Given the description of an element on the screen output the (x, y) to click on. 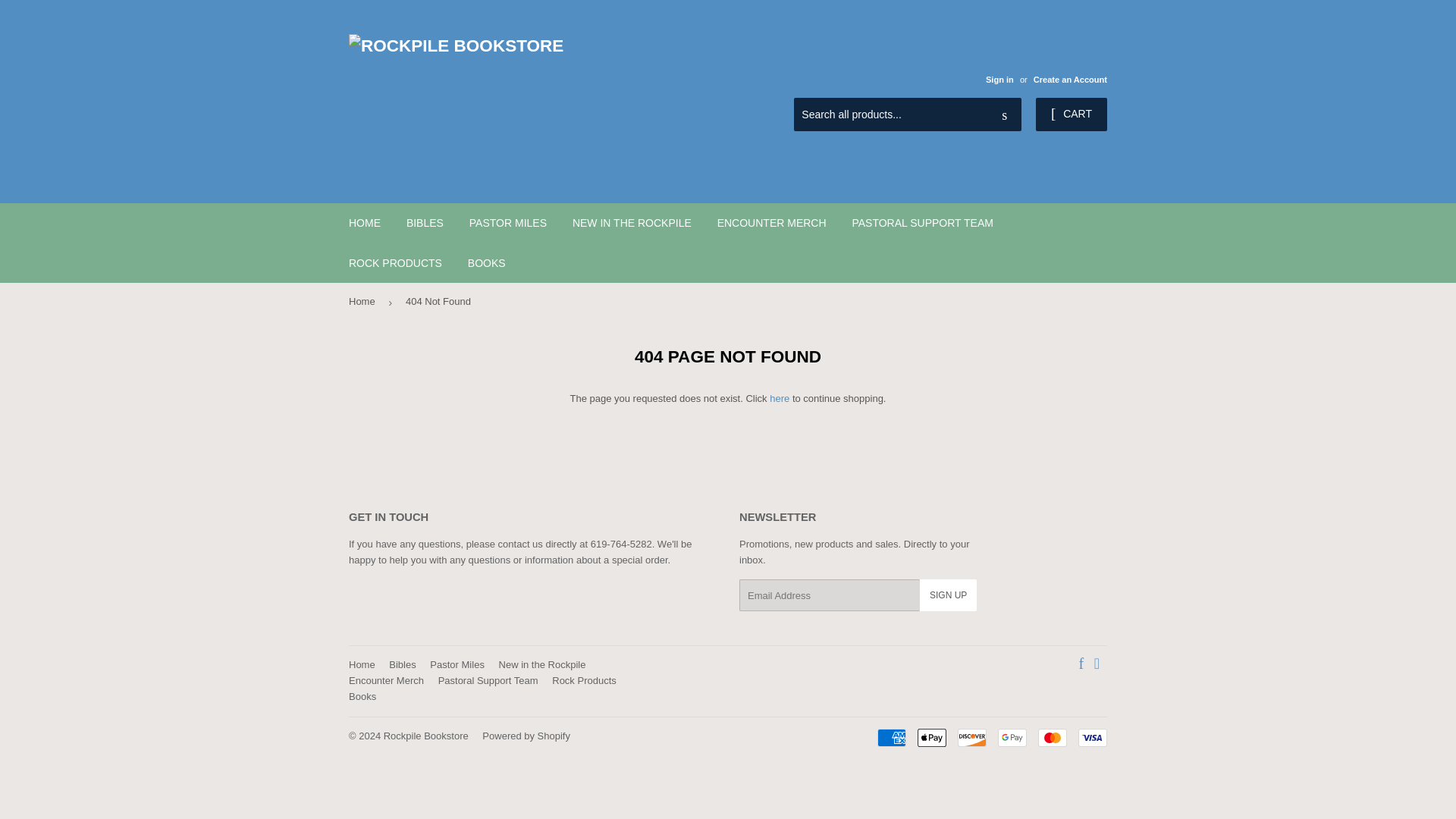
BIBLES (424, 222)
Google Pay (1011, 737)
ENCOUNTER MERCH (772, 222)
Pastor Miles (456, 664)
PASTOR MILES (507, 222)
here (779, 398)
NEW IN THE ROCKPILE (631, 222)
ROCK PRODUCTS (394, 262)
CART (1070, 114)
Books (362, 696)
